Given the description of an element on the screen output the (x, y) to click on. 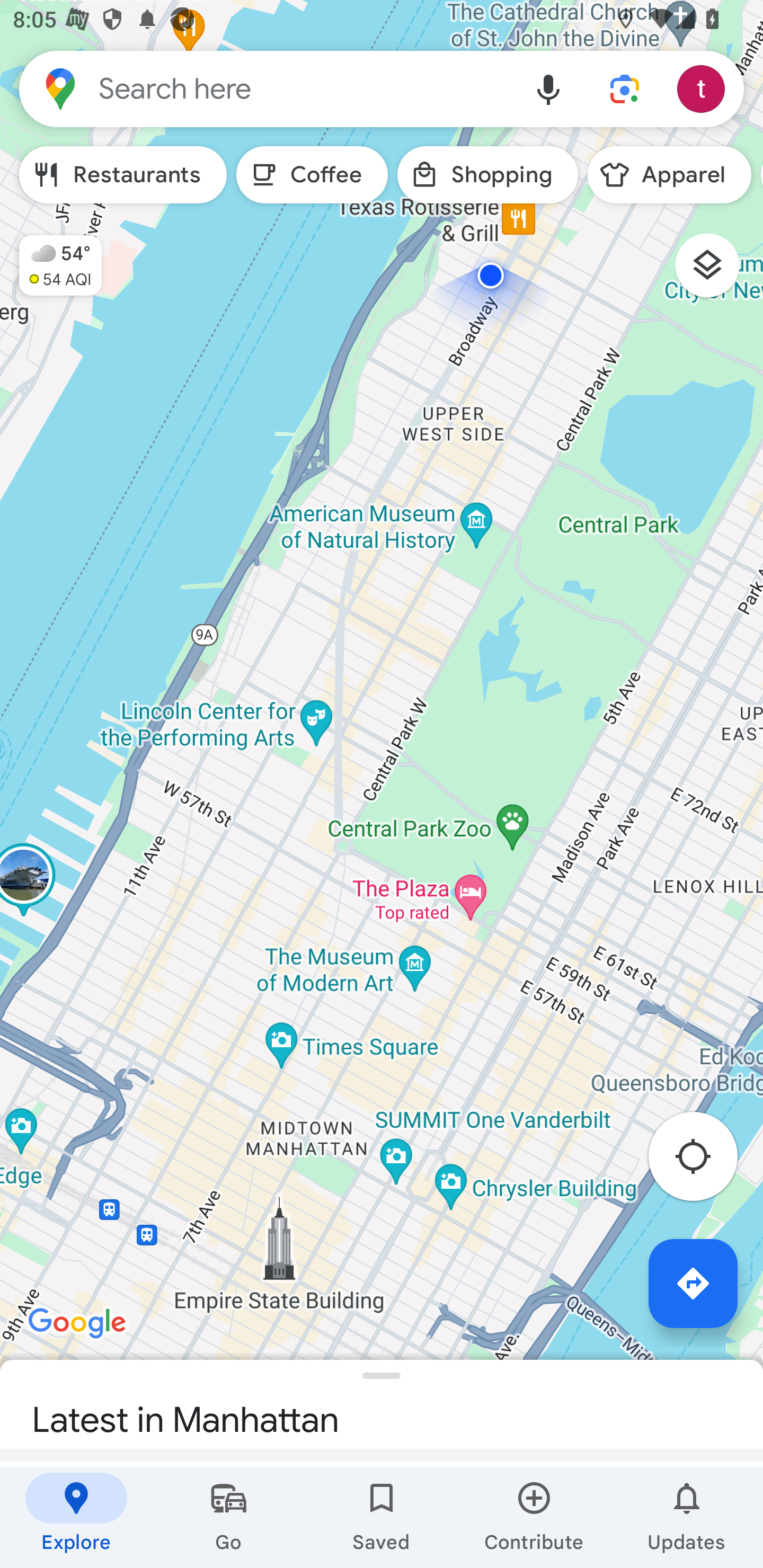
Search here (264, 88)
Voice search (548, 88)
Lens in Maps (624, 88)
Account and settings. (703, 88)
Restaurants Search for Restaurants (122, 174)
Coffee Search for Coffee (311, 174)
Shopping Search for Shopping (487, 174)
Apparel Search for Apparel (669, 174)
Cloudy, 54°, Moderate, 54 AQI 54° 54 AQI (50, 257)
Layers (716, 271)
Re-center map to your location (702, 1161)
Directions (692, 1283)
Go (228, 1517)
Saved (381, 1517)
Contribute (533, 1517)
Updates (686, 1517)
